Given the description of an element on the screen output the (x, y) to click on. 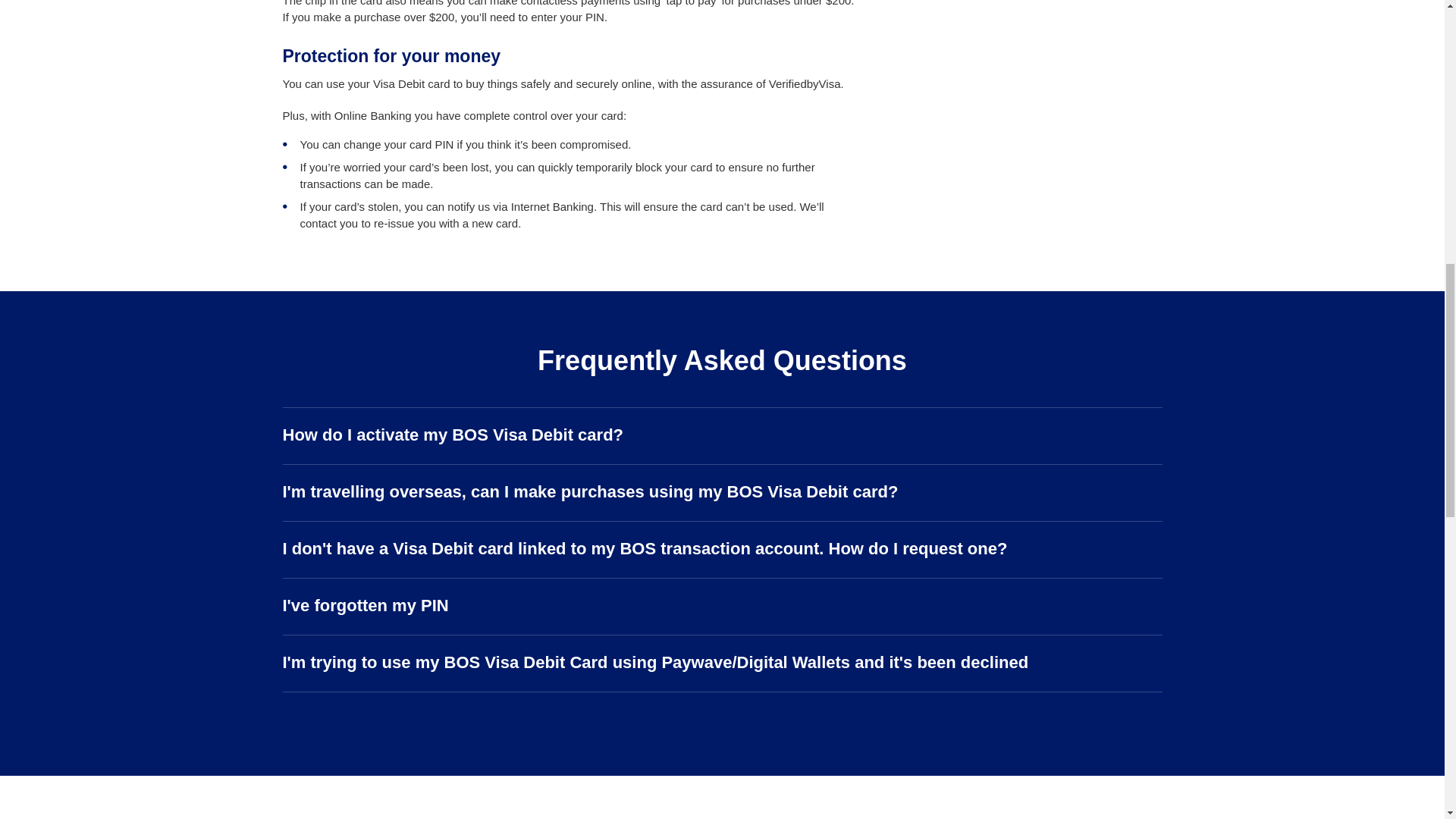
How do I activate my BOS Visa Debit card? (721, 435)
I've forgotten my PIN (721, 606)
